Given the description of an element on the screen output the (x, y) to click on. 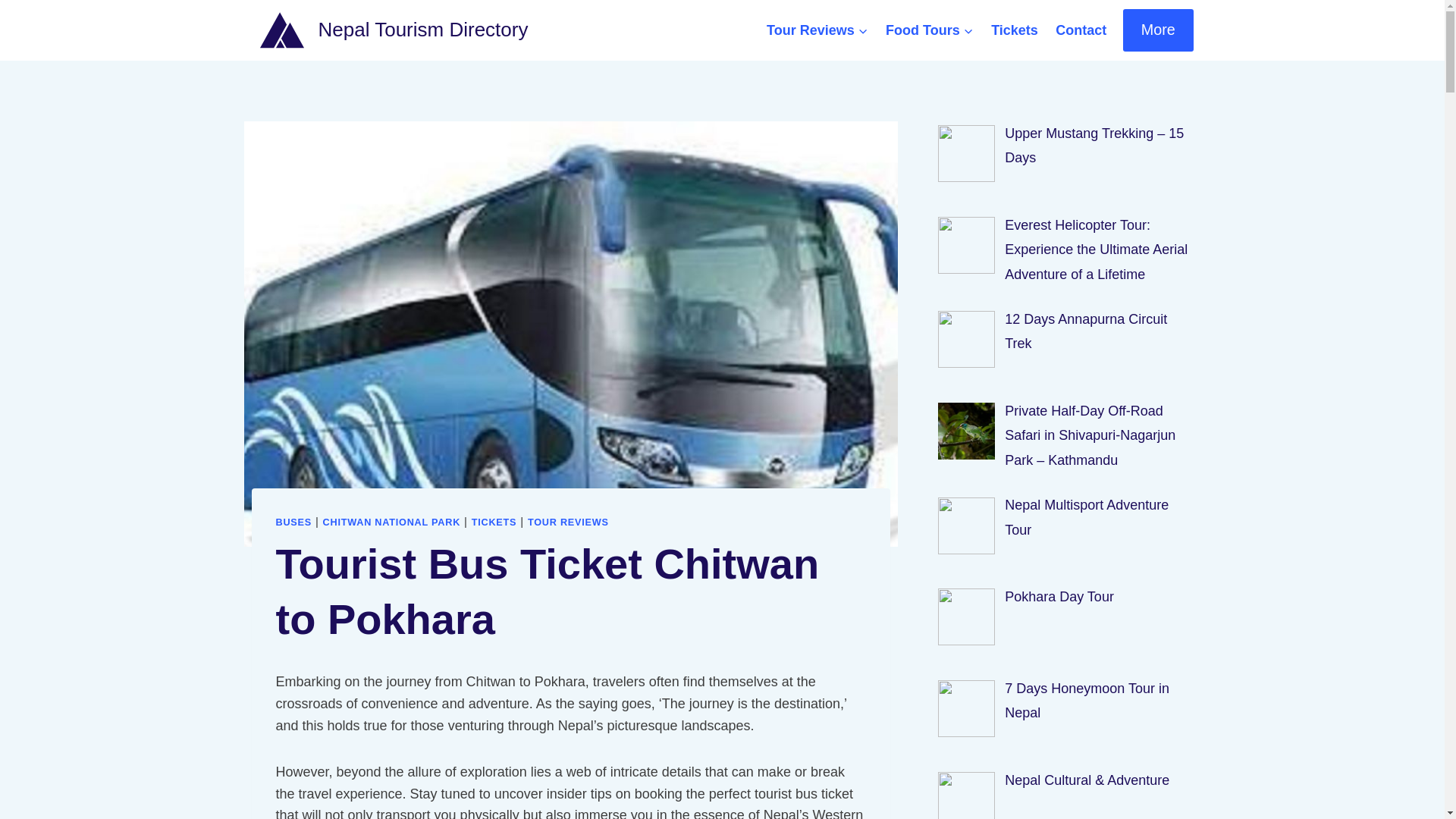
BUSES (294, 521)
Tour Reviews (816, 30)
CHITWAN NATIONAL PARK (392, 521)
Food Tours (928, 30)
Contact (1080, 30)
Nepal Tourism Directory (393, 29)
TICKETS (493, 521)
More (1157, 29)
Tickets (1013, 30)
TOUR REVIEWS (567, 521)
